Given the description of an element on the screen output the (x, y) to click on. 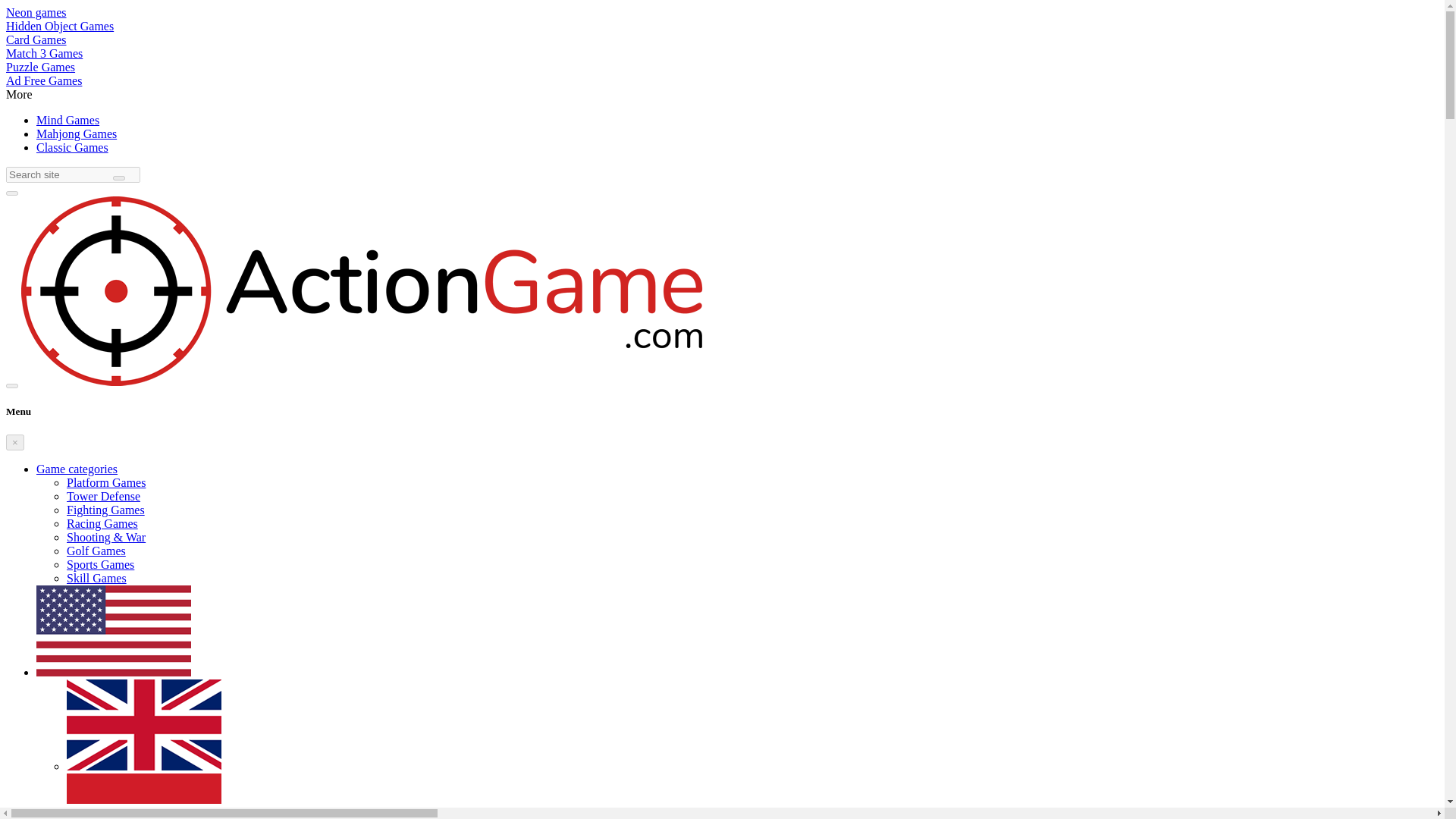
Match 3 Games (43, 52)
Solitaire and Card games (35, 39)
Sports Games (99, 563)
Mind Games (67, 119)
Racing Games (102, 522)
Skill Games (96, 577)
Puzzle Games (40, 66)
Mahjong Games (76, 133)
Neon games (35, 11)
Puzzle Games (40, 66)
